Given the description of an element on the screen output the (x, y) to click on. 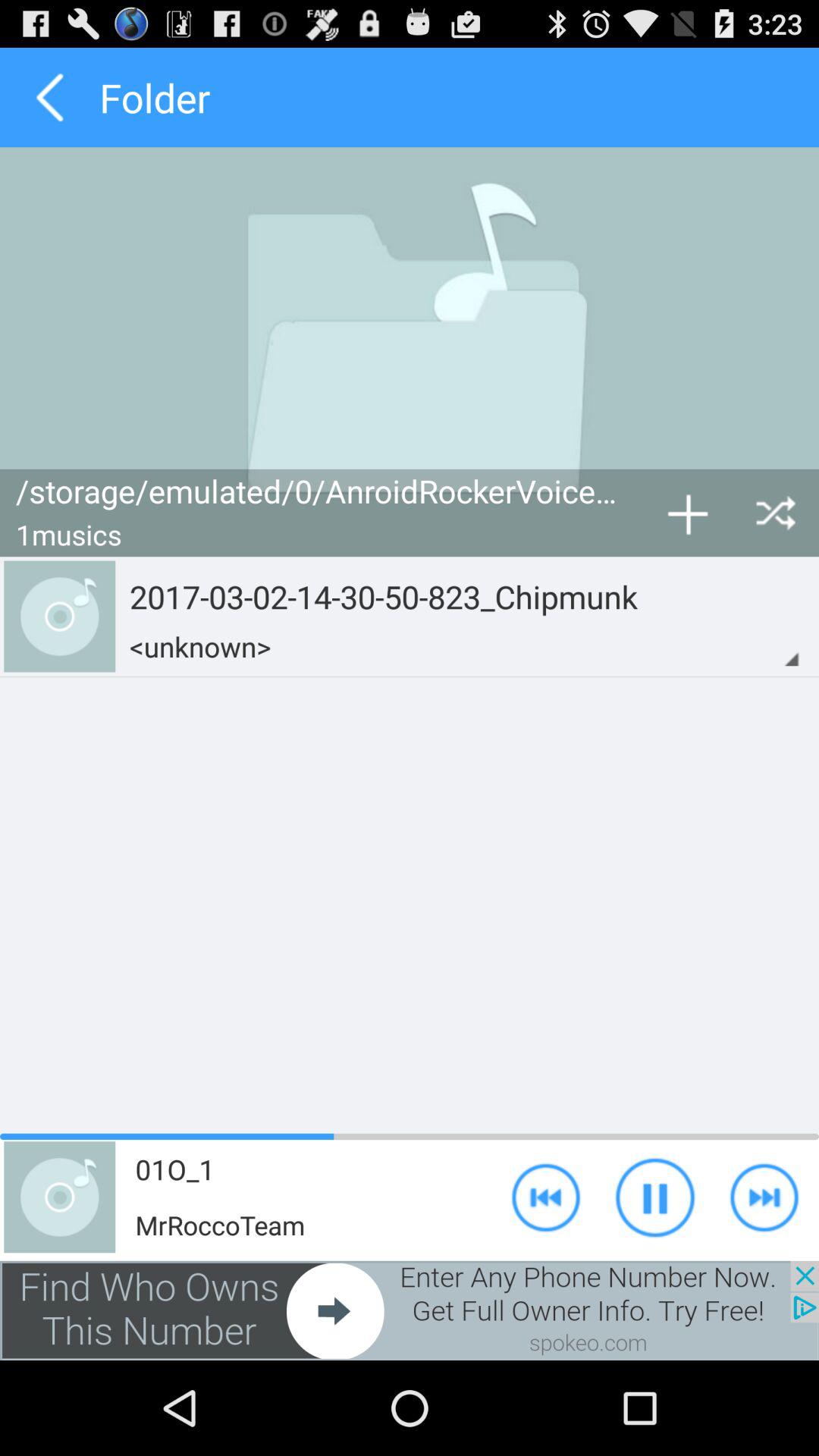
forward option (764, 1196)
